Given the description of an element on the screen output the (x, y) to click on. 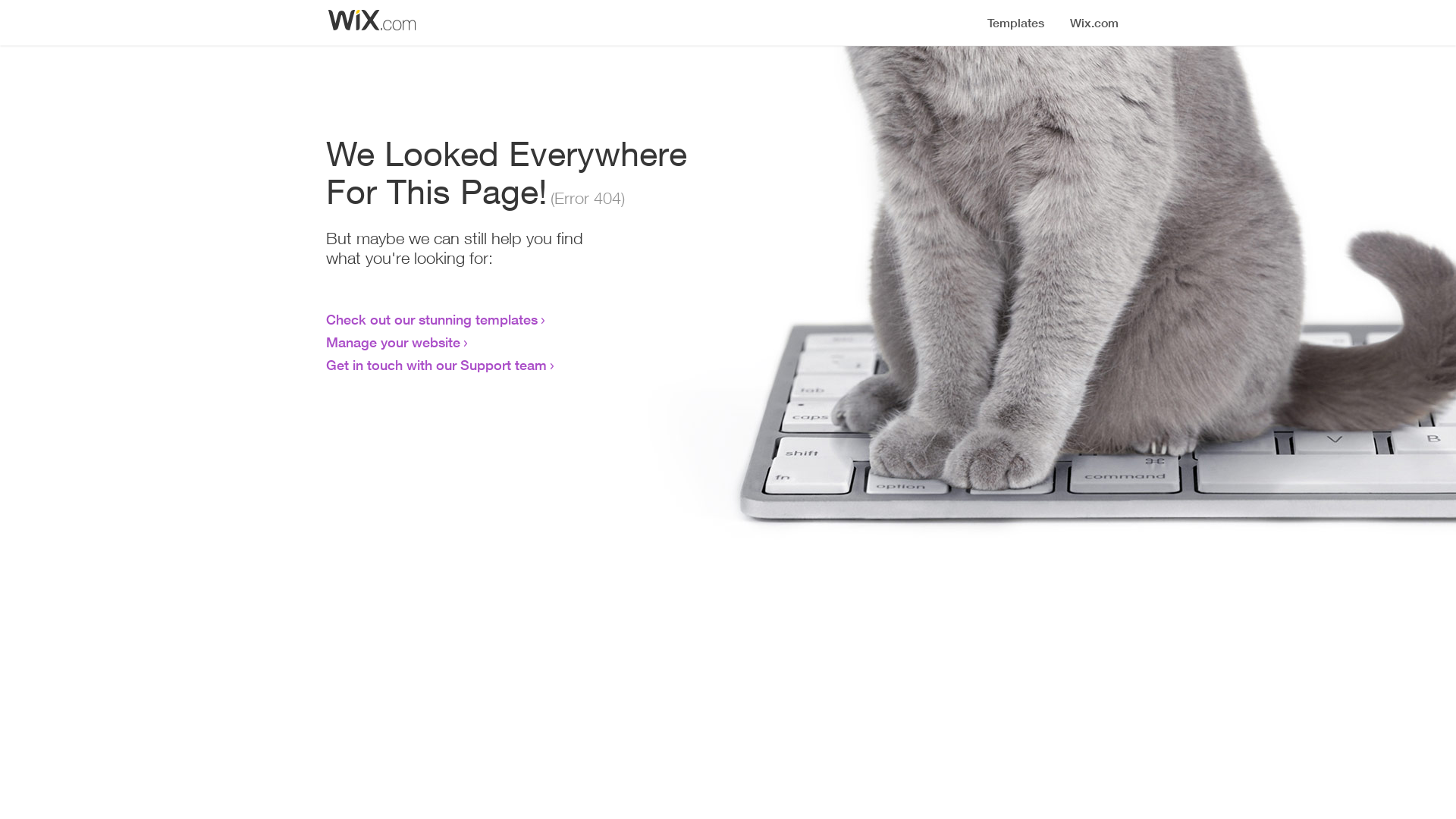
Manage your website Element type: text (393, 341)
Check out our stunning templates Element type: text (431, 318)
Get in touch with our Support team Element type: text (436, 364)
